Given the description of an element on the screen output the (x, y) to click on. 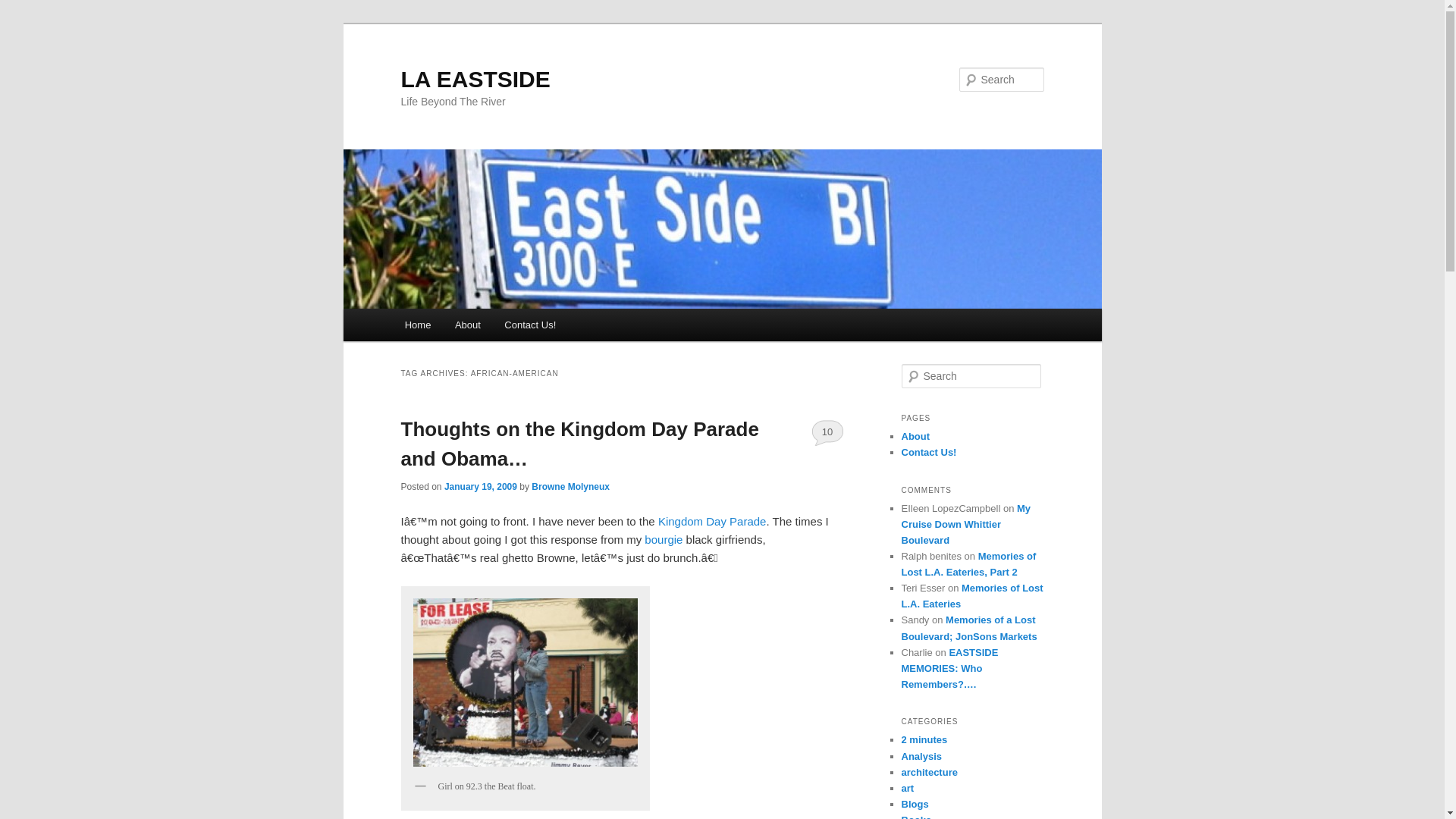
About (467, 324)
Kingdom Day Parade (711, 521)
Home (417, 324)
Search (24, 8)
9:13 pm (480, 486)
Browne Molyneux (570, 486)
10 (827, 431)
Contact Us! (530, 324)
bourgie (663, 539)
View all posts by Browne Molyneux (570, 486)
January 19, 2009 (480, 486)
LA EASTSIDE (475, 78)
